Given the description of an element on the screen output the (x, y) to click on. 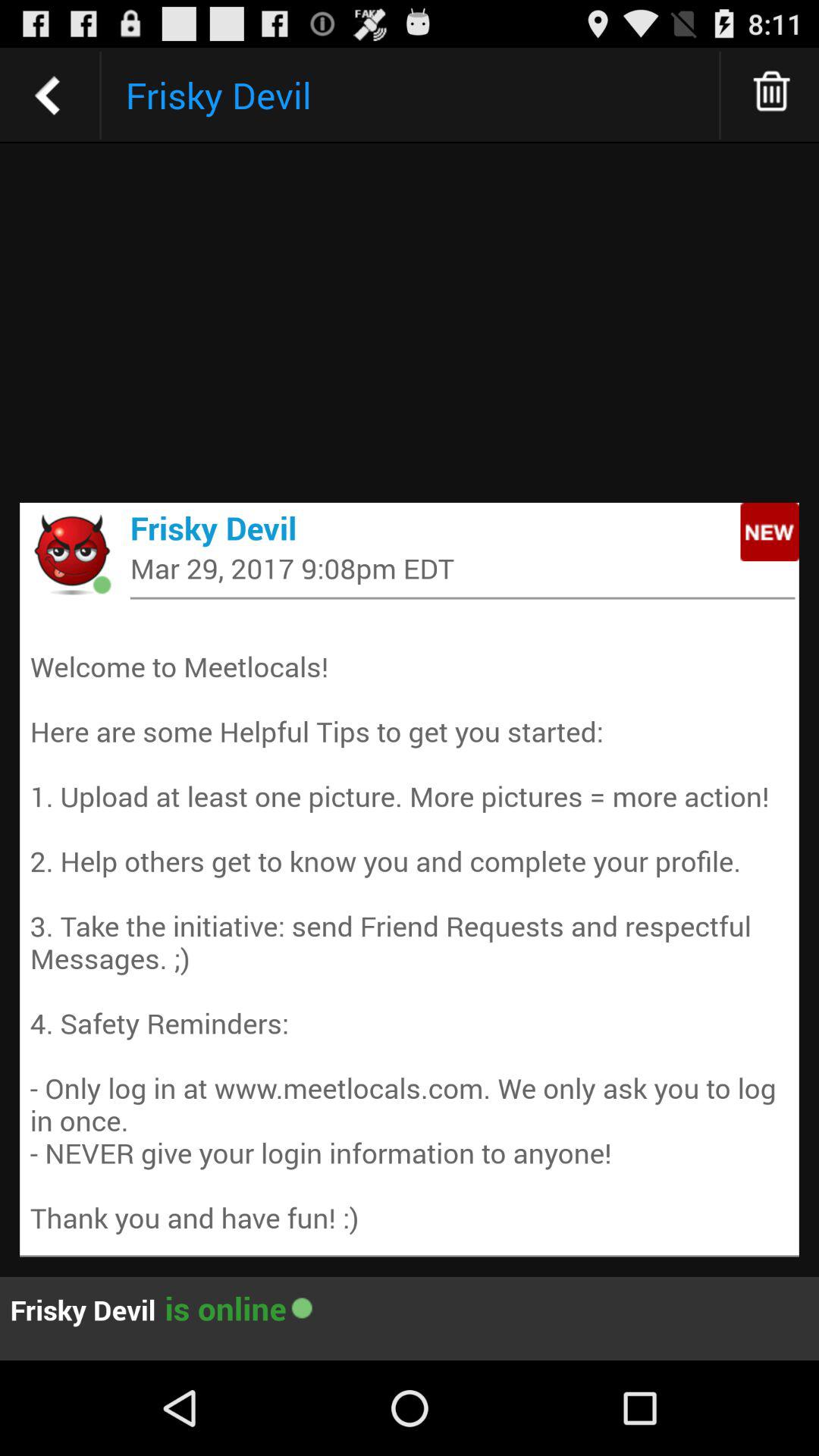
swipe until the welcome to meetlocals (409, 925)
